Given the description of an element on the screen output the (x, y) to click on. 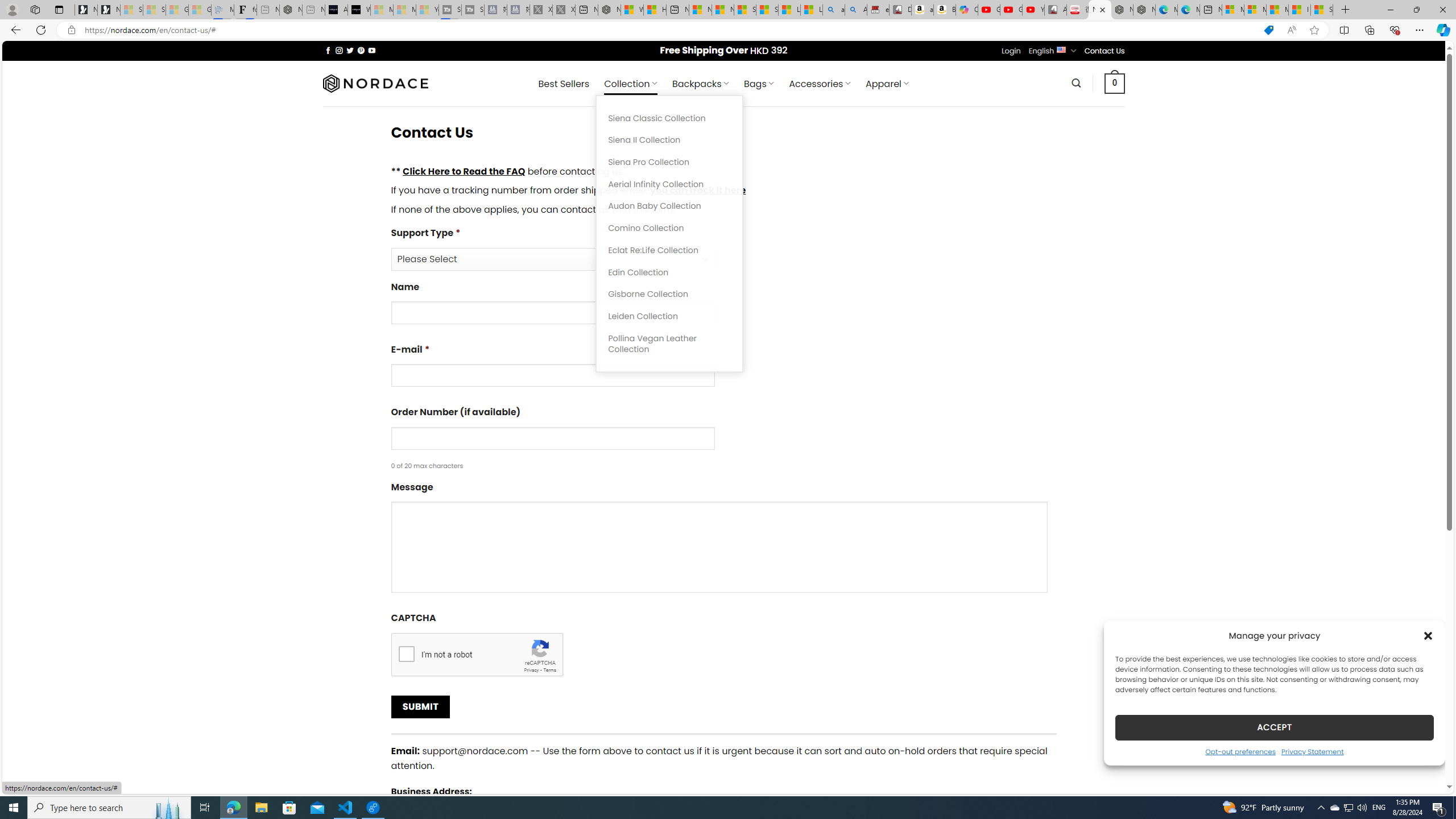
Opt-out preferences (1240, 750)
I'm not a robot (405, 653)
Aerial Infinity Collection (669, 183)
Siena Classic Collection (669, 118)
Edin Collection (669, 272)
Audon Baby Collection (669, 205)
Gisborne Collection (669, 294)
E-mail* (552, 375)
